Given the description of an element on the screen output the (x, y) to click on. 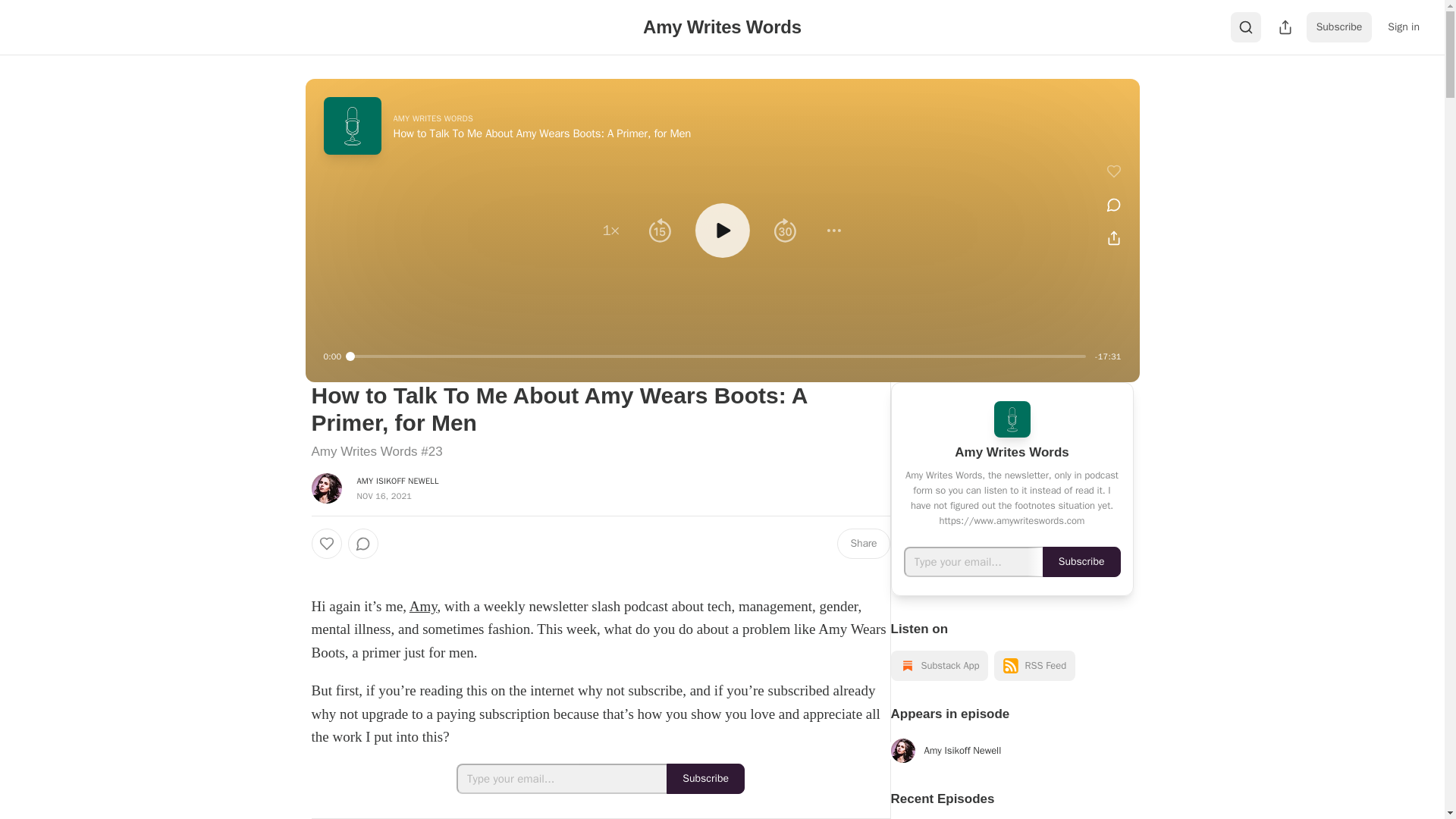
Subscribe (1339, 27)
Subscribe (705, 778)
Amy (423, 606)
Amy Writes Words (722, 26)
Share (863, 543)
AMY ISIKOFF NEWELL (397, 480)
Sign in (1403, 27)
